Given the description of an element on the screen output the (x, y) to click on. 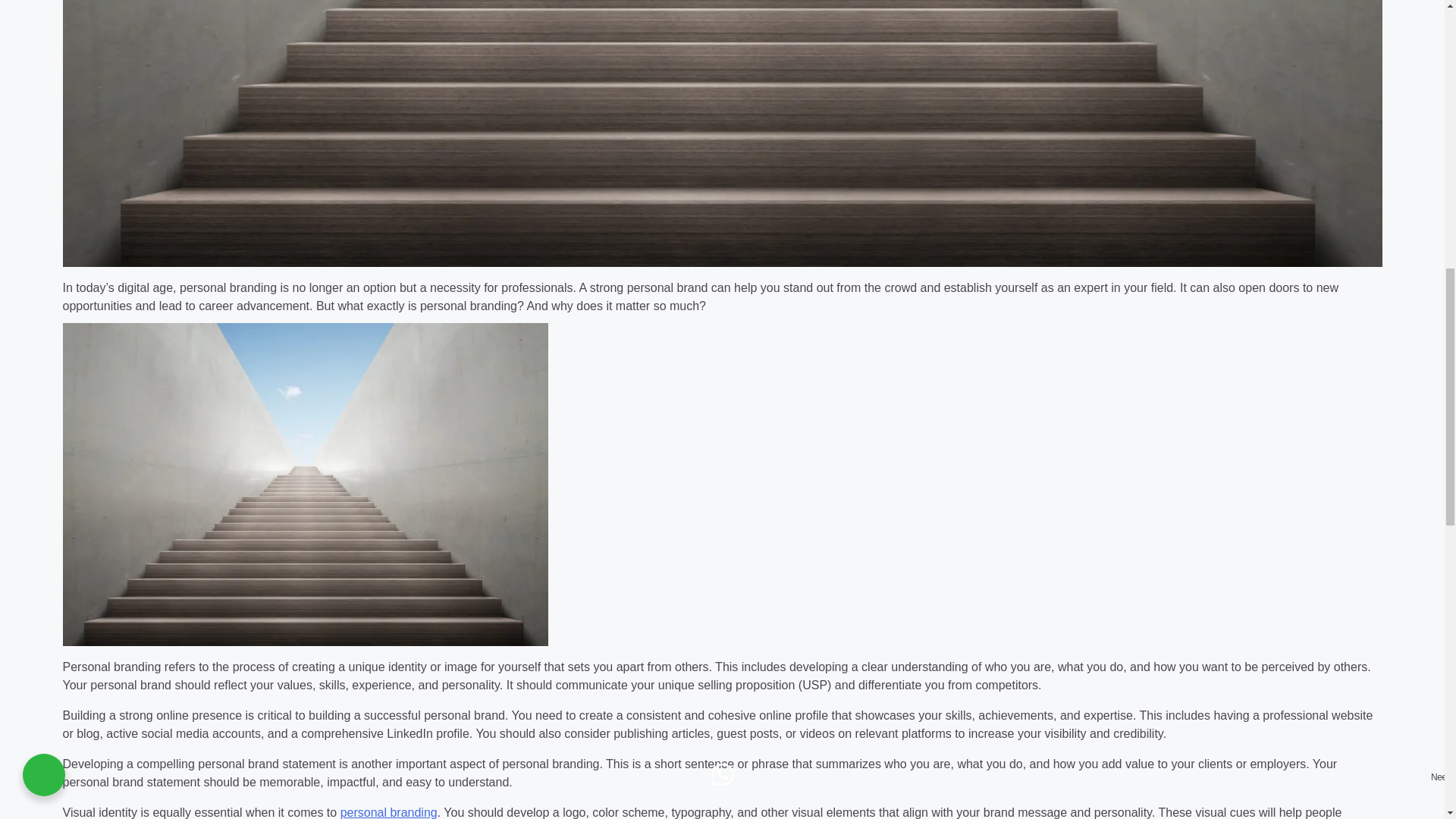
personal branding (389, 812)
